Given the description of an element on the screen output the (x, y) to click on. 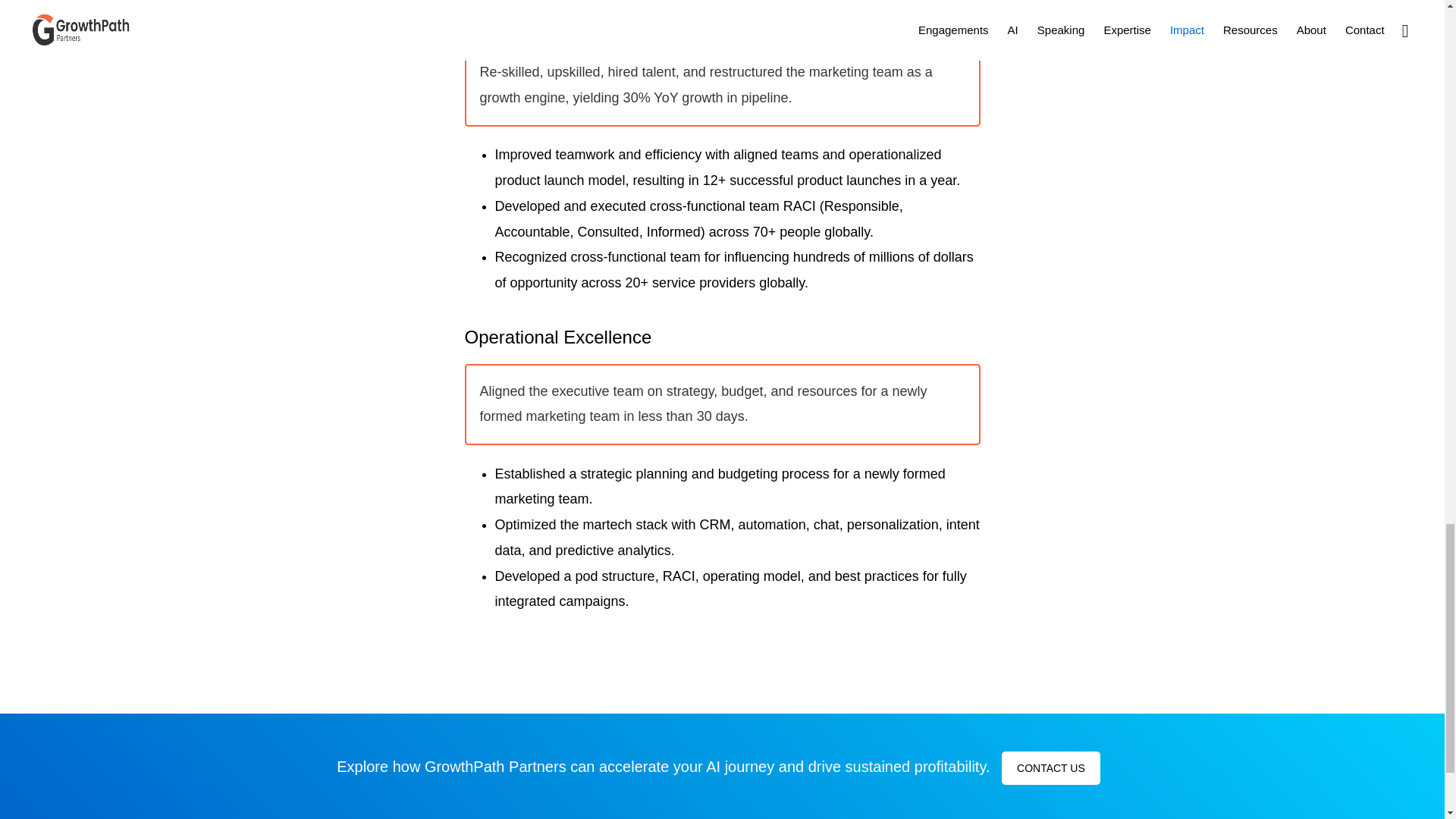
CONTACT US (1050, 767)
